Given the description of an element on the screen output the (x, y) to click on. 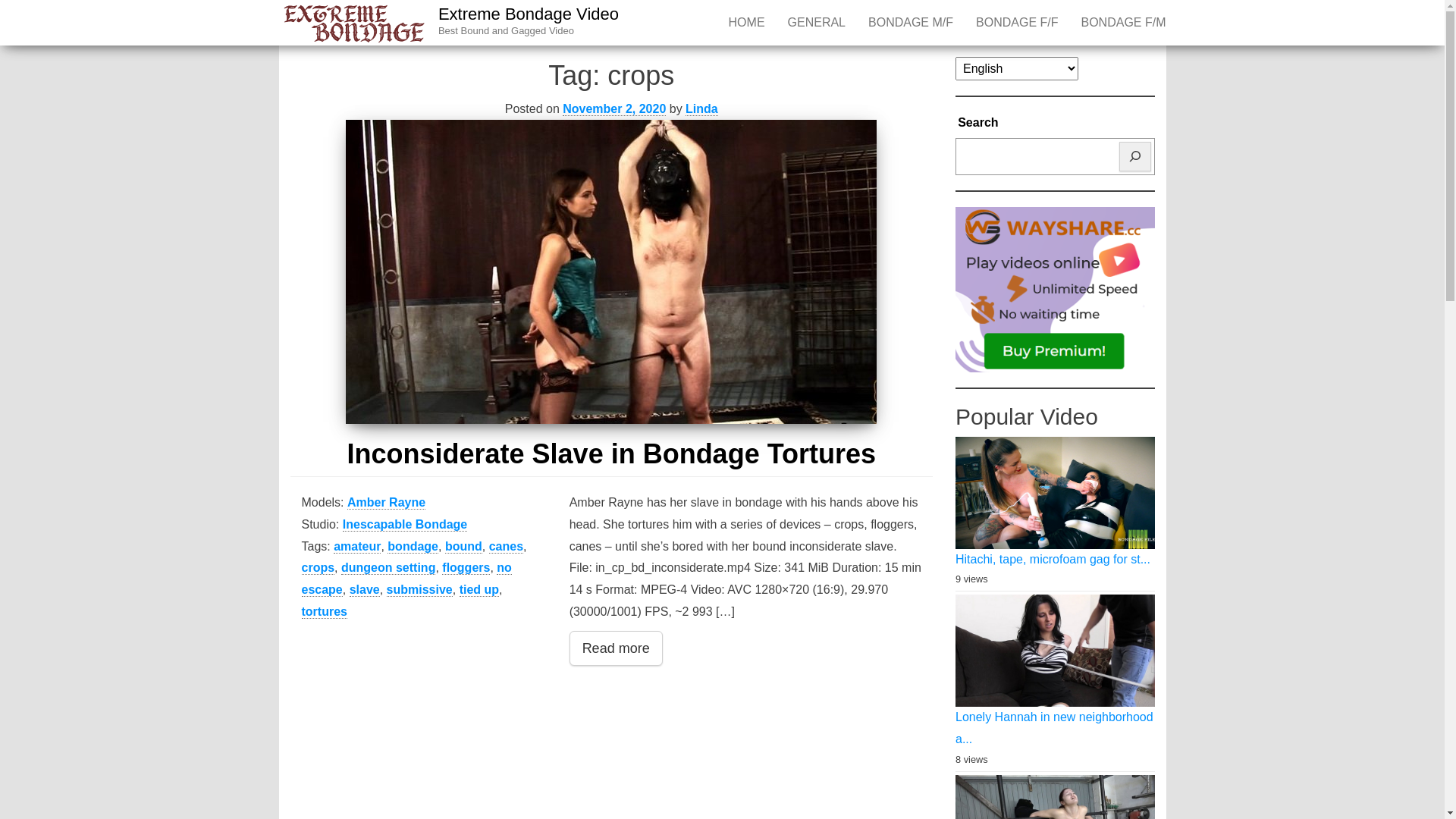
bound Element type: text (463, 546)
BONDAGE F/F Element type: text (1016, 22)
Inescapable Bondage Element type: text (404, 524)
Extreme Bondage Video Element type: text (528, 13)
BONDAGE F/M Element type: text (1122, 22)
dungeon setting Element type: text (388, 567)
amateur Element type: text (356, 546)
Lonely Hannah in new neighborhood a... Element type: text (1054, 727)
floggers Element type: text (465, 567)
November 2, 2020 Element type: text (613, 109)
tortures Element type: text (324, 611)
no escape Element type: text (406, 578)
Read more Element type: text (615, 647)
crops Element type: text (318, 567)
canes Element type: text (506, 546)
HOME Element type: text (746, 22)
submissive Element type: text (419, 589)
Hitachi, tape, microfoam gag for st... Element type: text (1052, 558)
slave Element type: text (364, 589)
Linda Element type: text (701, 109)
Amber Rayne Element type: text (386, 502)
bondage Element type: text (412, 546)
tied up Element type: text (478, 589)
Inconsiderate Slave in Bondage Tortures Element type: text (611, 453)
BONDAGE M/F Element type: text (910, 22)
GENERAL Element type: text (816, 22)
Inconsiderate Slave in Bondage Tortures Element type: hover (610, 271)
